Given the description of an element on the screen output the (x, y) to click on. 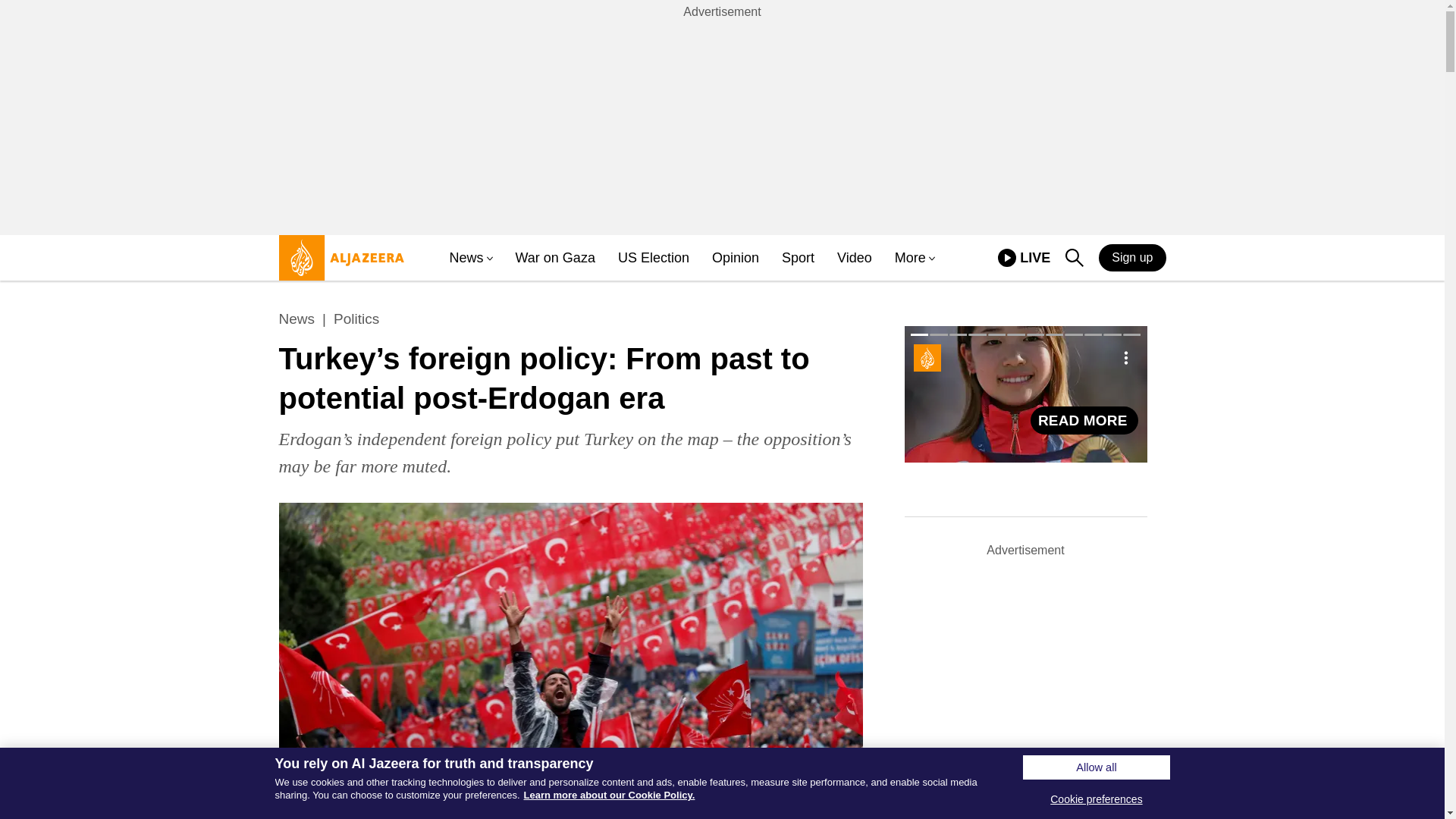
US Election (652, 257)
Opinion (1023, 257)
Sport (734, 257)
search (797, 257)
Skip to Content (1074, 257)
Video (337, 264)
War on Gaza (854, 257)
Paris 2024: 14-year-old wins Olympic street skateboard gold (555, 257)
Sign up (1084, 420)
News (1132, 257)
play (297, 319)
News (1006, 257)
3rd party ad content (465, 257)
